Given the description of an element on the screen output the (x, y) to click on. 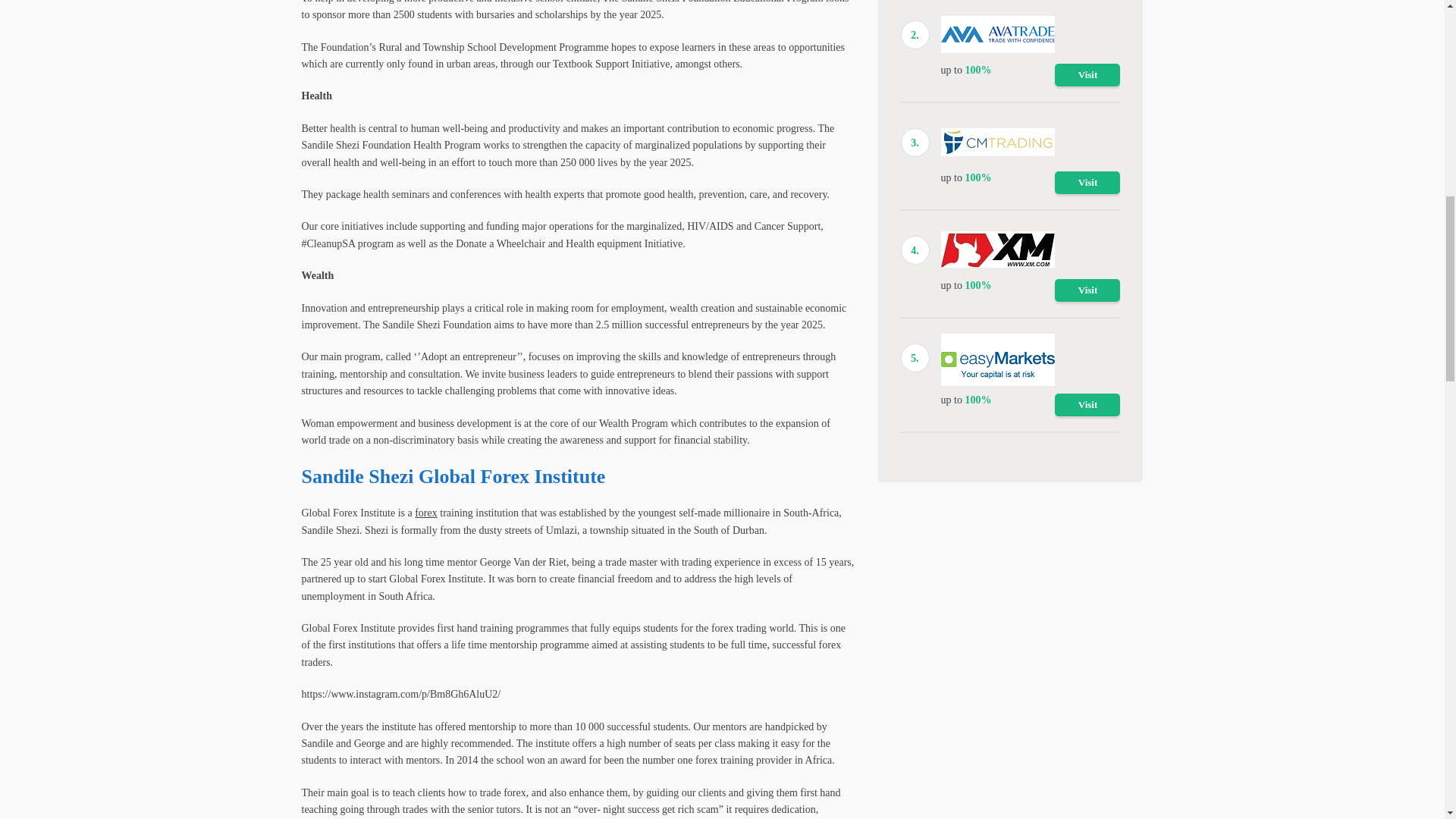
forex (426, 512)
